Given the description of an element on the screen output the (x, y) to click on. 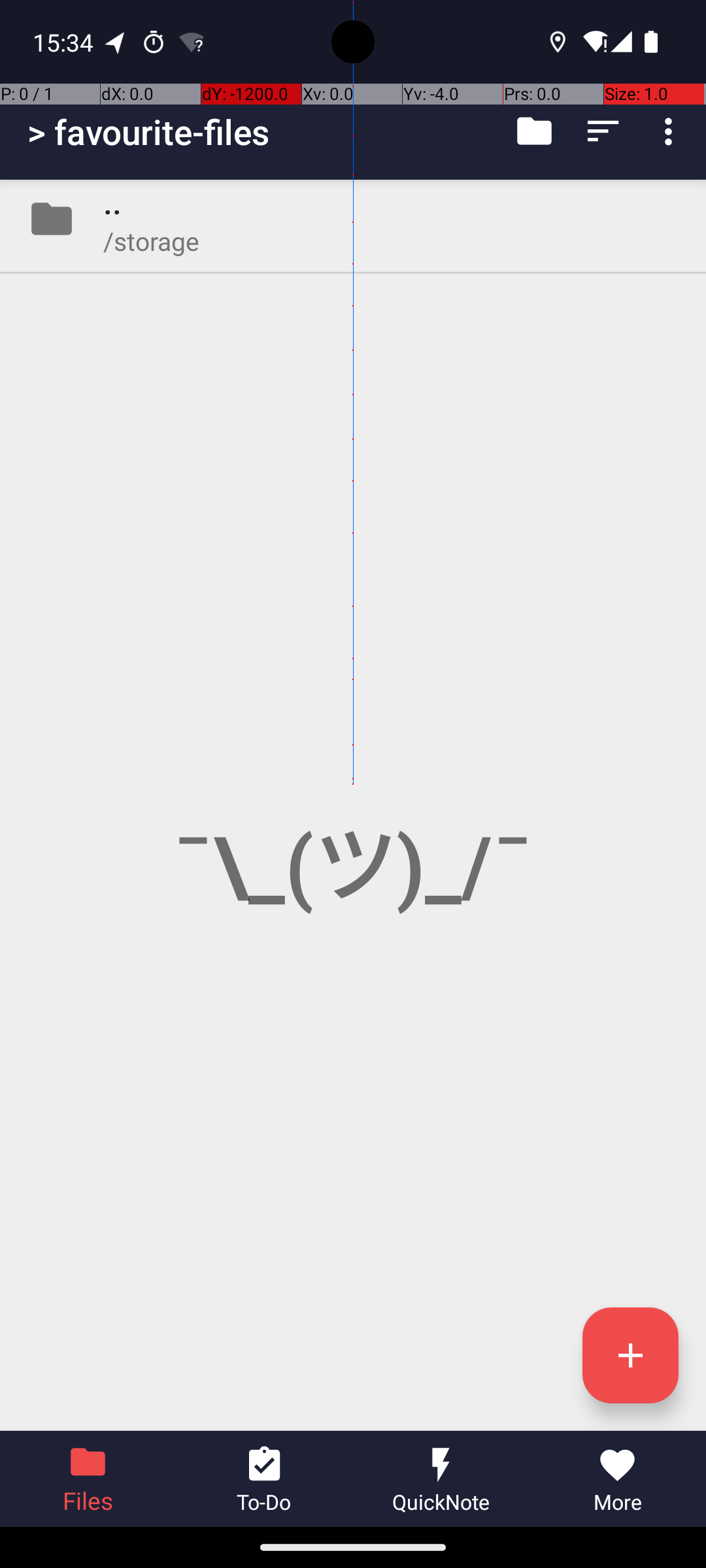
> favourite-files Element type: android.widget.TextView (148, 131)
